Given the description of an element on the screen output the (x, y) to click on. 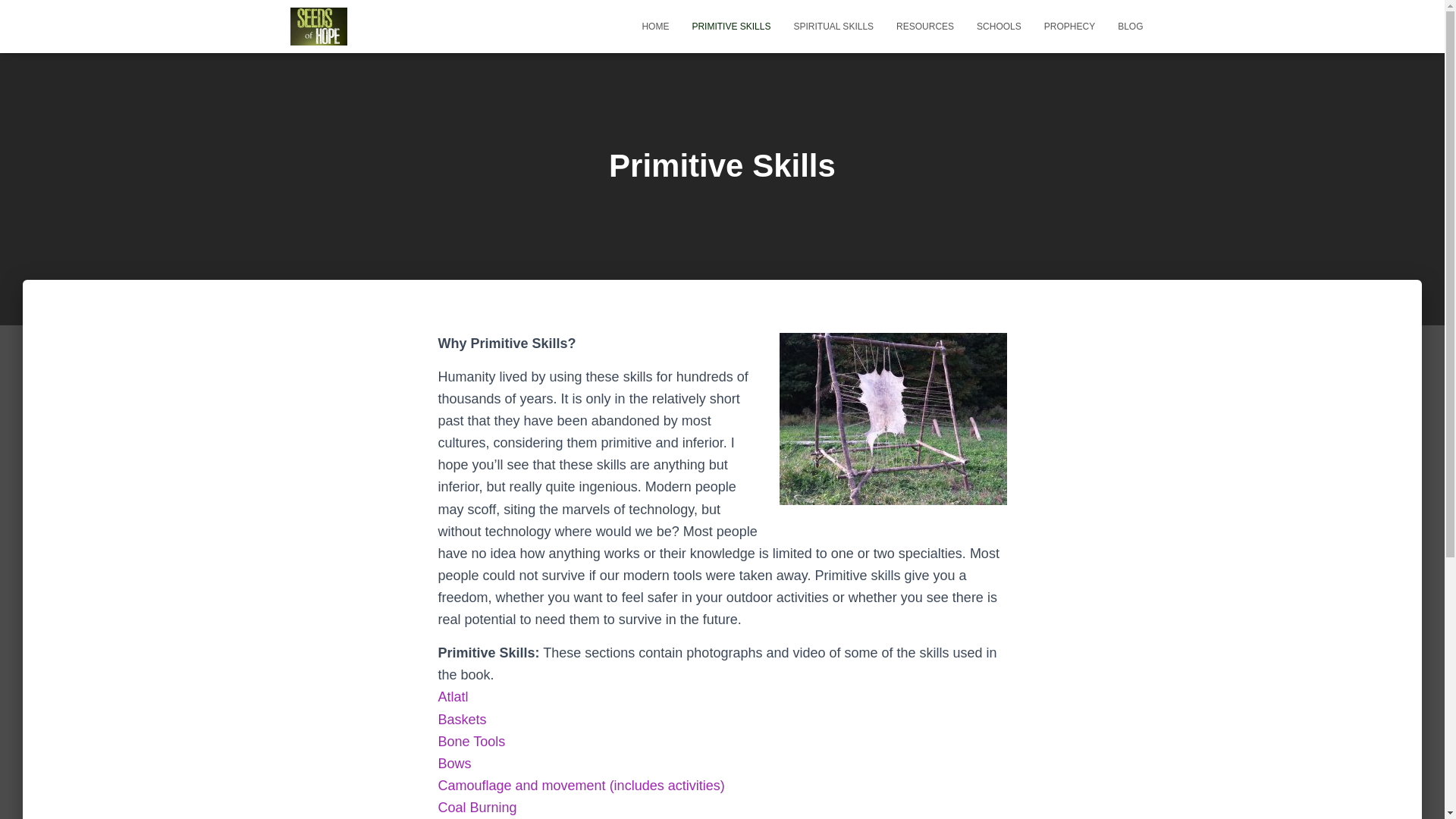
Atlatl (453, 696)
Primitive Skills (730, 26)
Schools (998, 26)
HOME (654, 26)
BLOG (1130, 26)
Prophecy (1069, 26)
PROPHECY (1069, 26)
SPIRITUAL SKILLS (833, 26)
Seeds of Hope (318, 26)
SCHOOLS (998, 26)
